Given the description of an element on the screen output the (x, y) to click on. 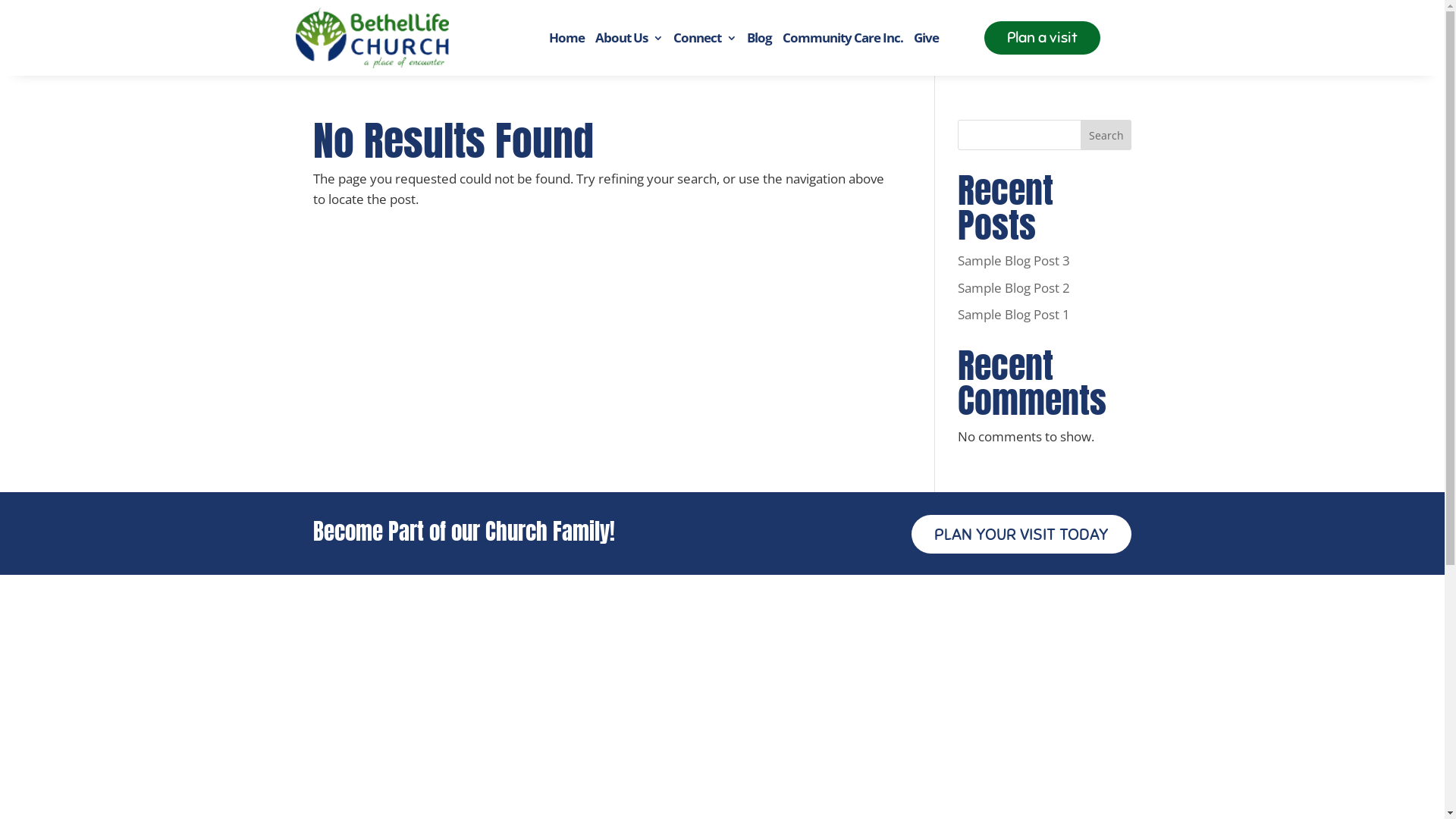
Sample Blog Post 3 Element type: text (1013, 260)
PLAN YOUR VISIT TODAY Element type: text (1021, 533)
Sample Blog Post 1 Element type: text (1013, 314)
Sample Blog Post 2 Element type: text (1013, 287)
Blog Element type: text (758, 37)
Community Care Inc. Element type: text (842, 37)
Search Element type: text (1106, 134)
Connect Element type: text (704, 37)
Home Element type: text (566, 37)
Plan a visit Element type: text (1042, 37)
About Us Element type: text (628, 37)
Give Element type: text (925, 37)
